Given the description of an element on the screen output the (x, y) to click on. 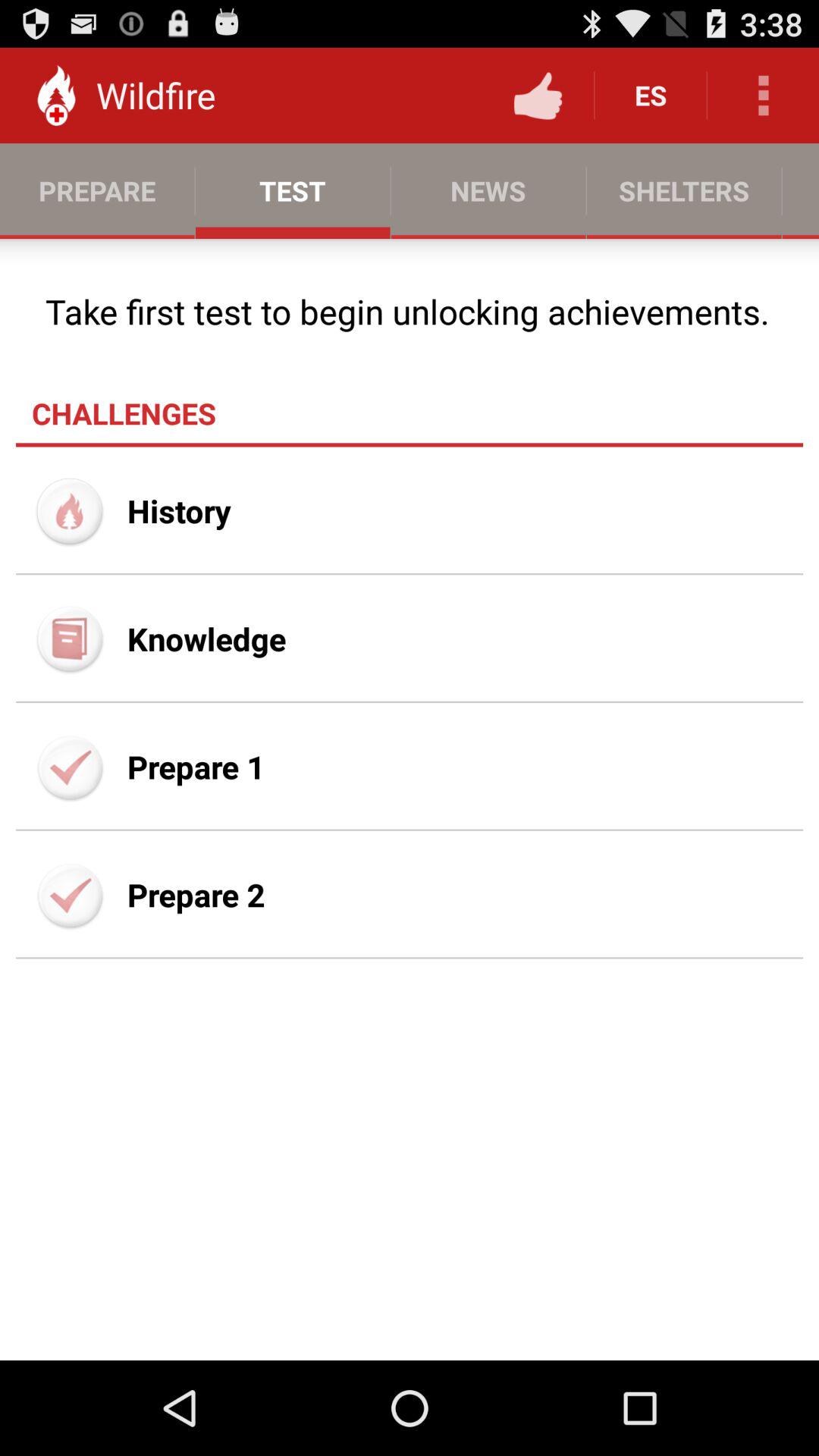
turn off item next to es item (537, 95)
